Given the description of an element on the screen output the (x, y) to click on. 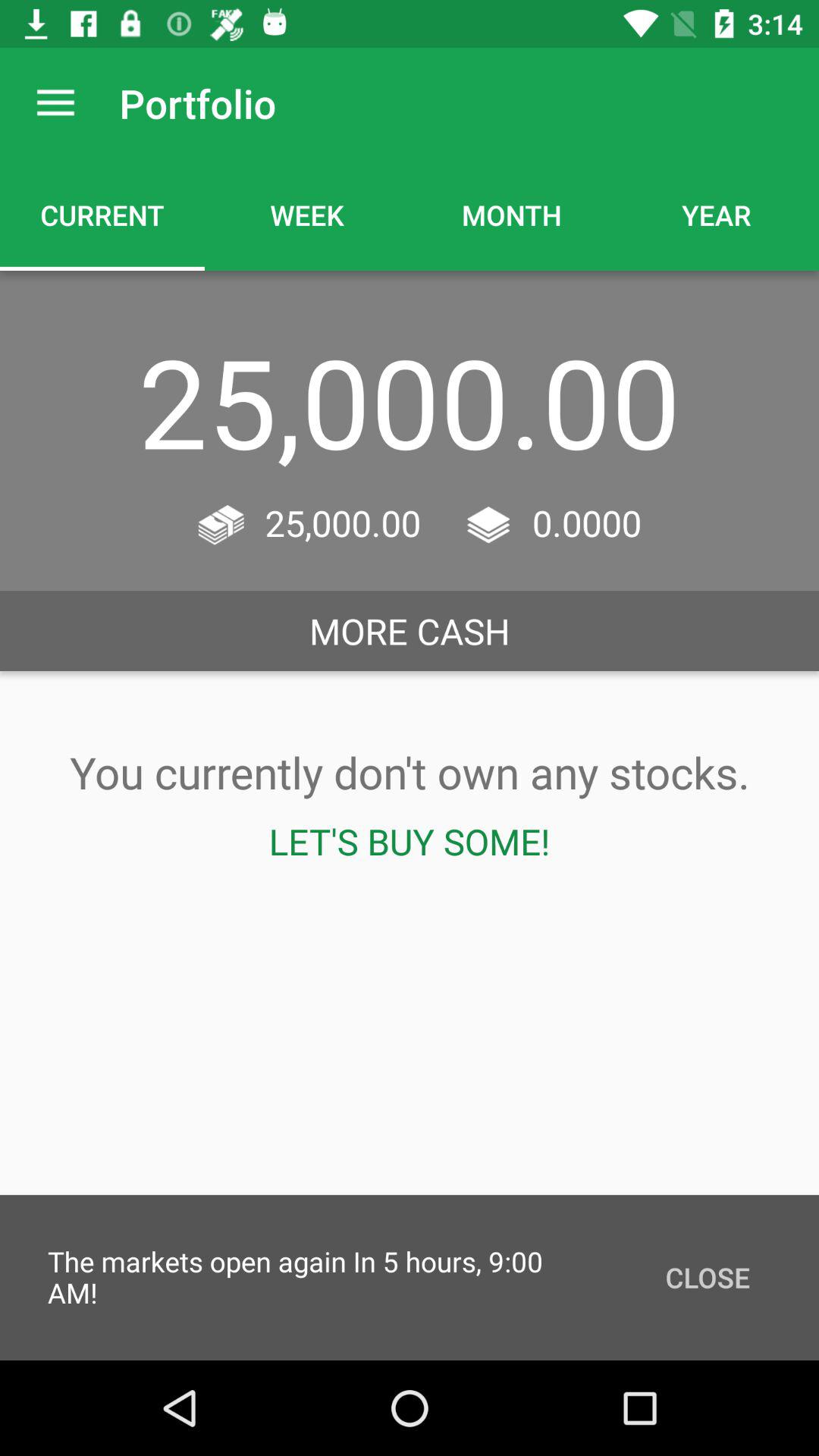
turn on the item below the let s buy (707, 1277)
